Given the description of an element on the screen output the (x, y) to click on. 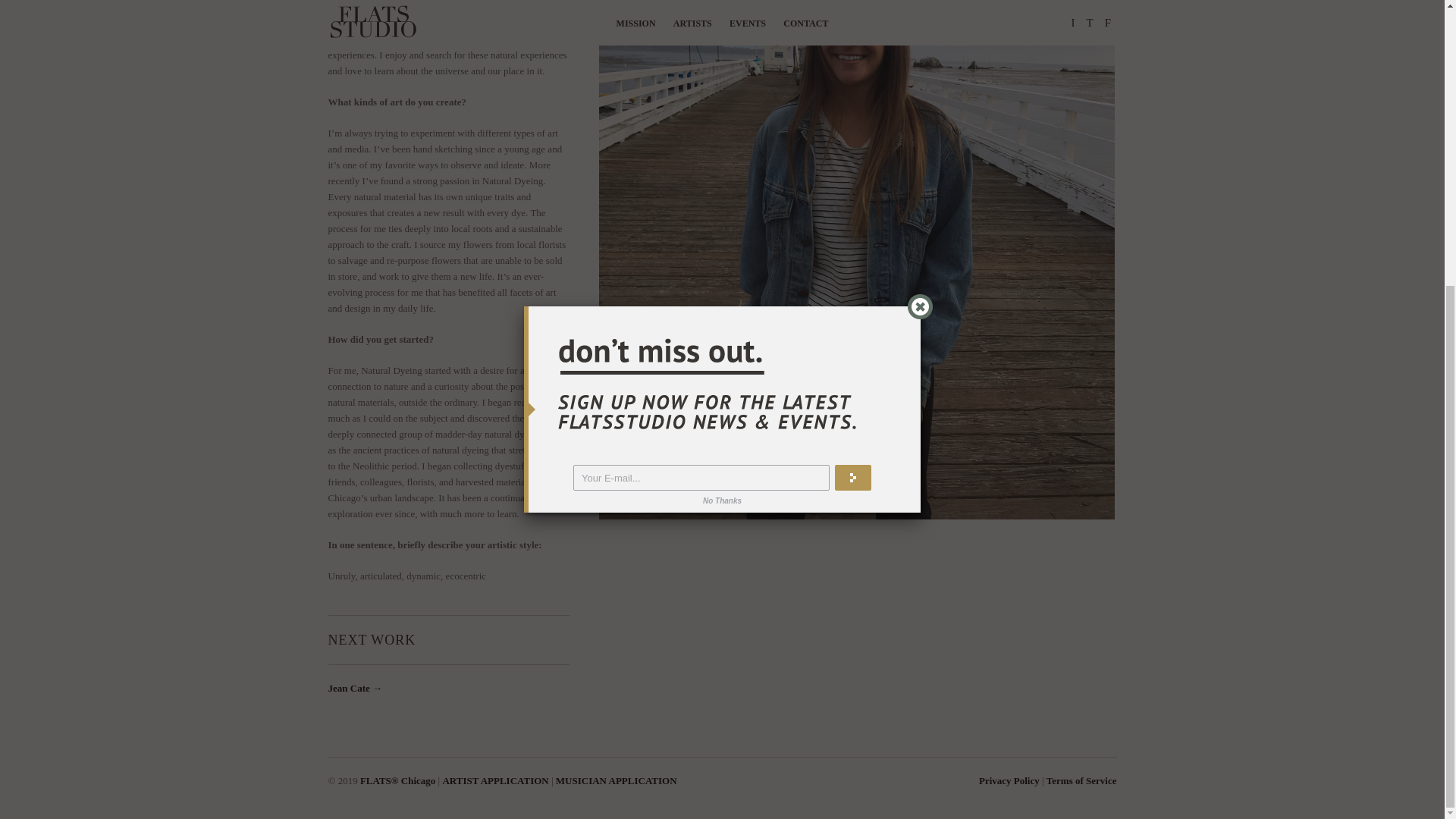
ARTIST APPLICATION (495, 780)
Terms of Service (1081, 780)
MUSICIAN APPLICATION (616, 780)
Submit (852, 46)
Privacy Policy (1008, 780)
No Thanks (722, 70)
